Given the description of an element on the screen output the (x, y) to click on. 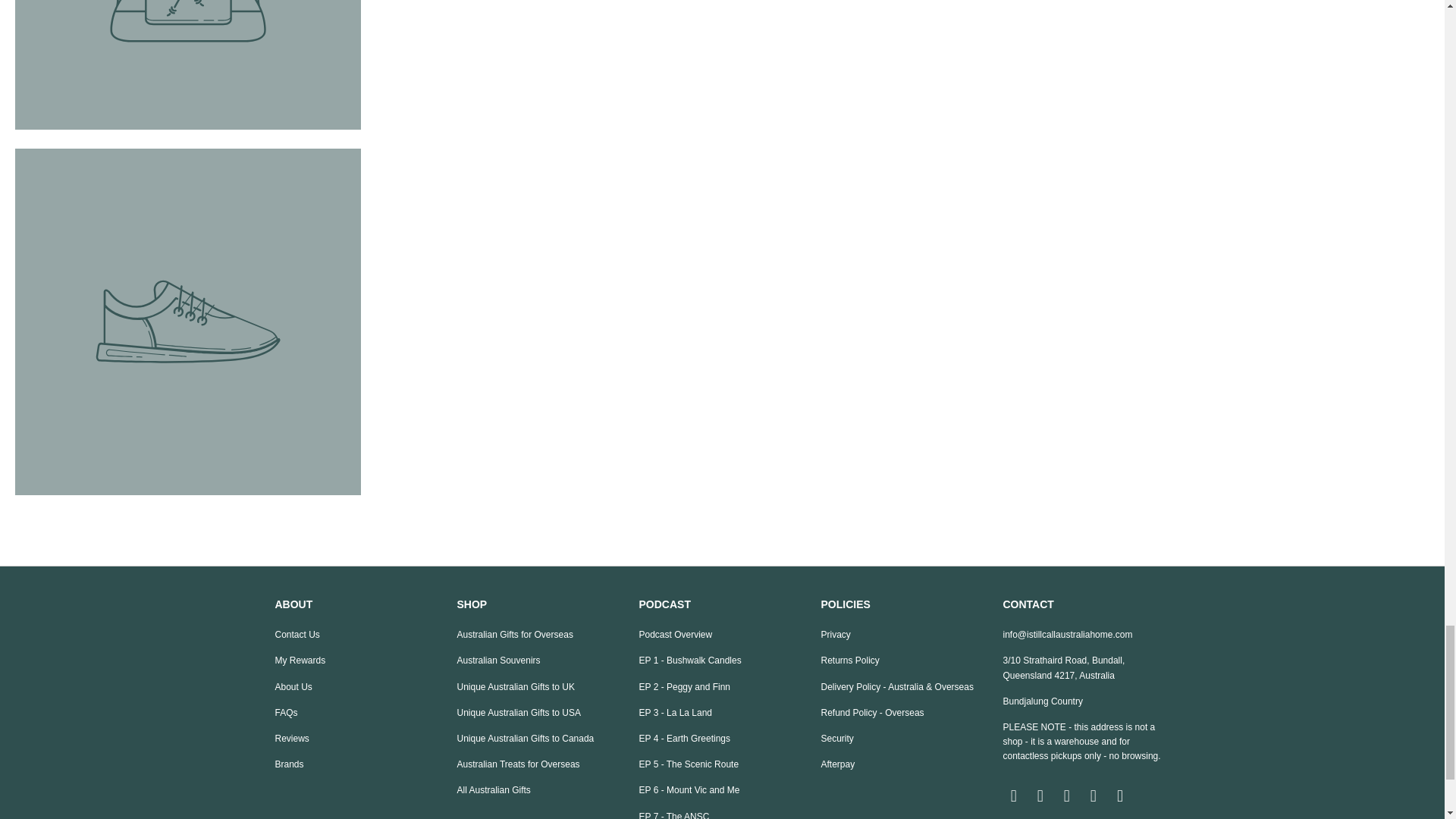
I Still Call Australia Home on Instagram (1067, 796)
I Still Call Australia Home on Twitter (1120, 796)
Email I Still Call Australia Home (1014, 796)
I Still Call Australia Home on Facebook (1040, 796)
I Still Call Australia Home on Pinterest (1094, 796)
